Given the description of an element on the screen output the (x, y) to click on. 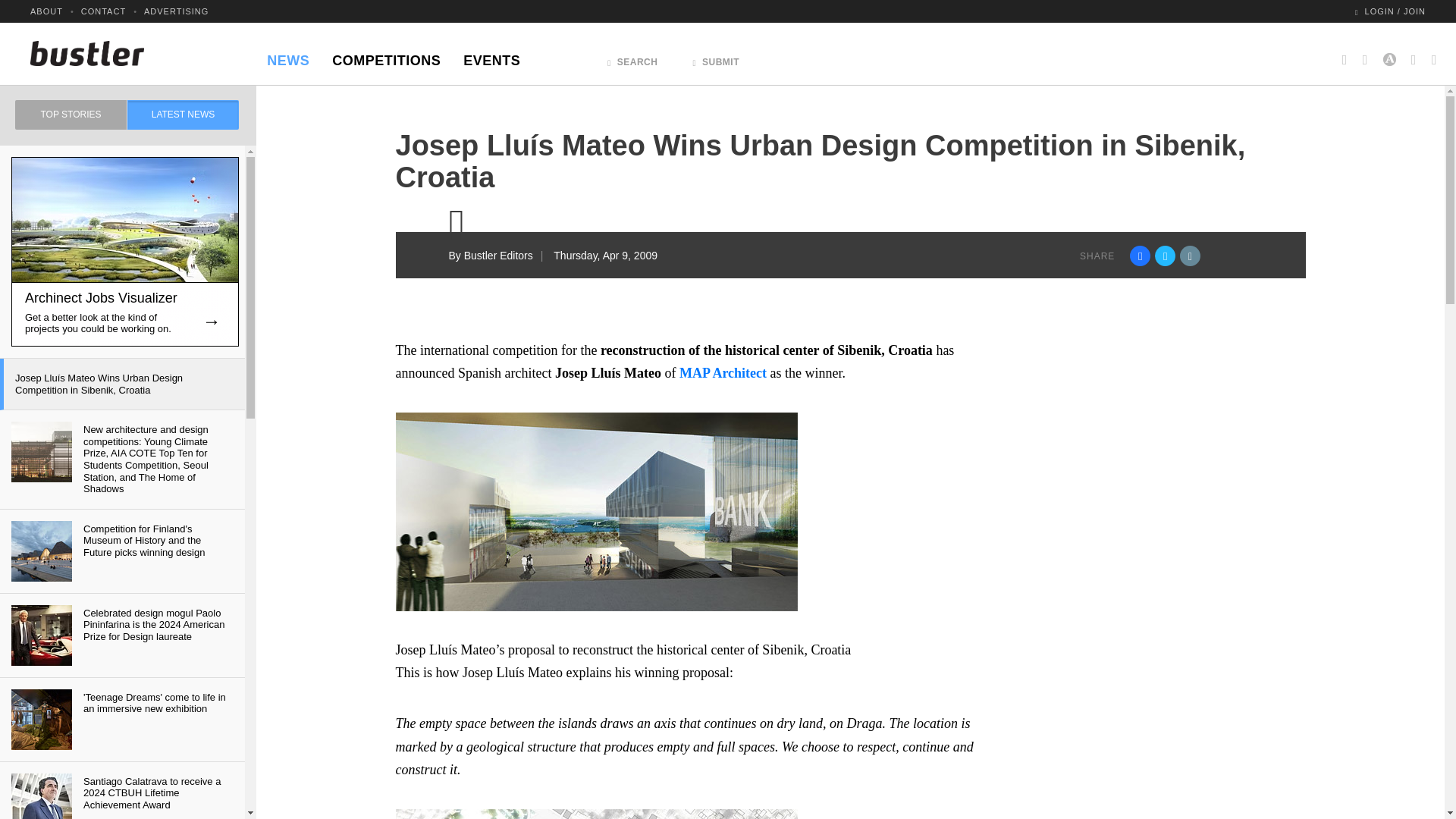
EVENTS (491, 56)
COMPETITIONS (385, 56)
CONTACT (103, 10)
SEARCH (632, 57)
ADVERTISING (176, 10)
SUBMIT (715, 57)
ABOUT (46, 10)
Bustler is powered by Archinect (1389, 53)
NEWS (288, 56)
